Given the description of an element on the screen output the (x, y) to click on. 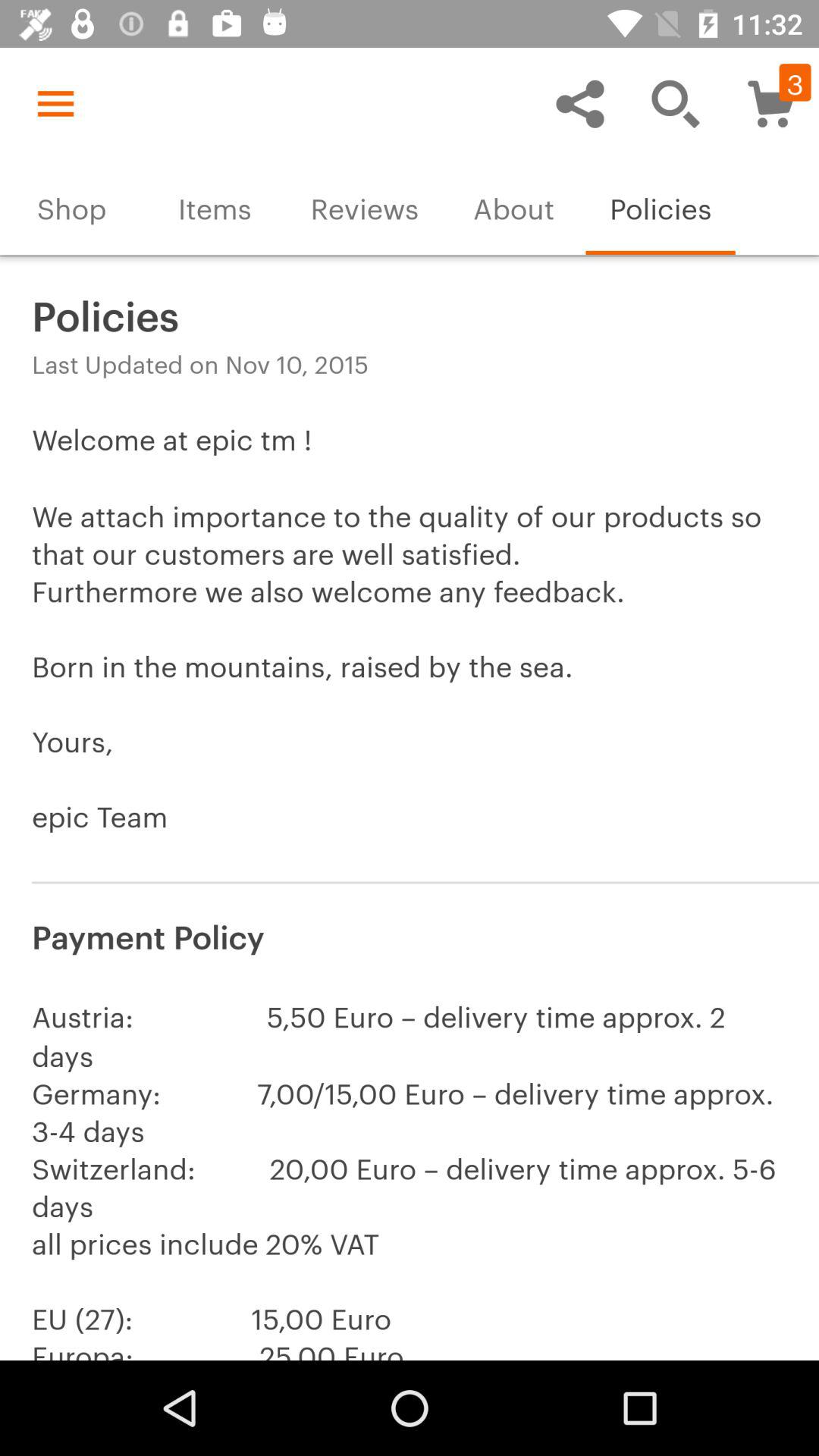
turn off the item above about icon (579, 103)
